Given the description of an element on the screen output the (x, y) to click on. 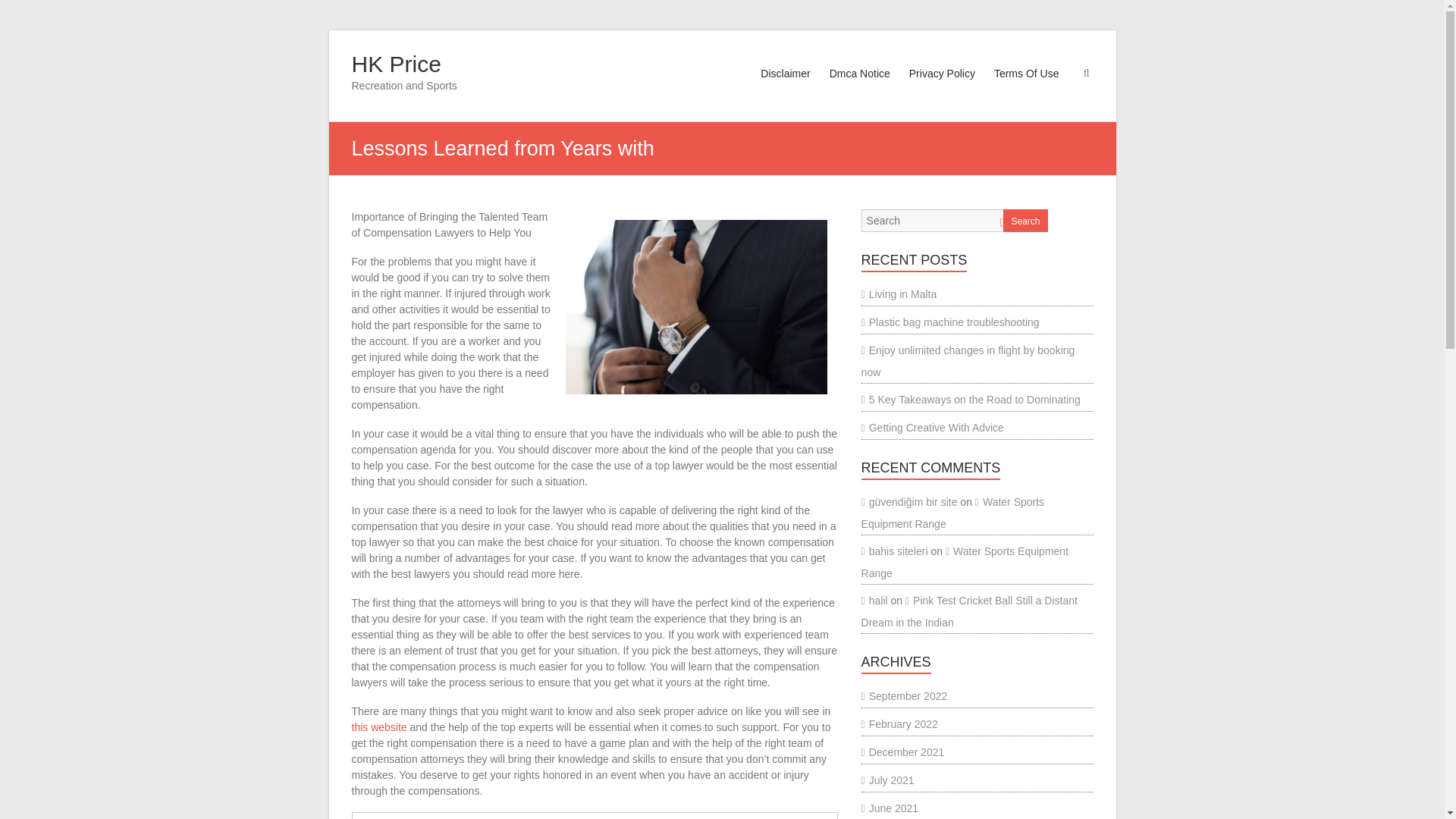
Dmca Notice (859, 87)
Legal (510, 818)
12:51 pm (446, 818)
May 14, 2021 (446, 818)
HK Price (396, 63)
February 2022 (899, 724)
Getting Creative With Advice (932, 427)
hkprice (379, 818)
Plastic bag machine troubleshooting (950, 322)
Enjoy unlimited changes in flight by booking now (968, 360)
